Given the description of an element on the screen output the (x, y) to click on. 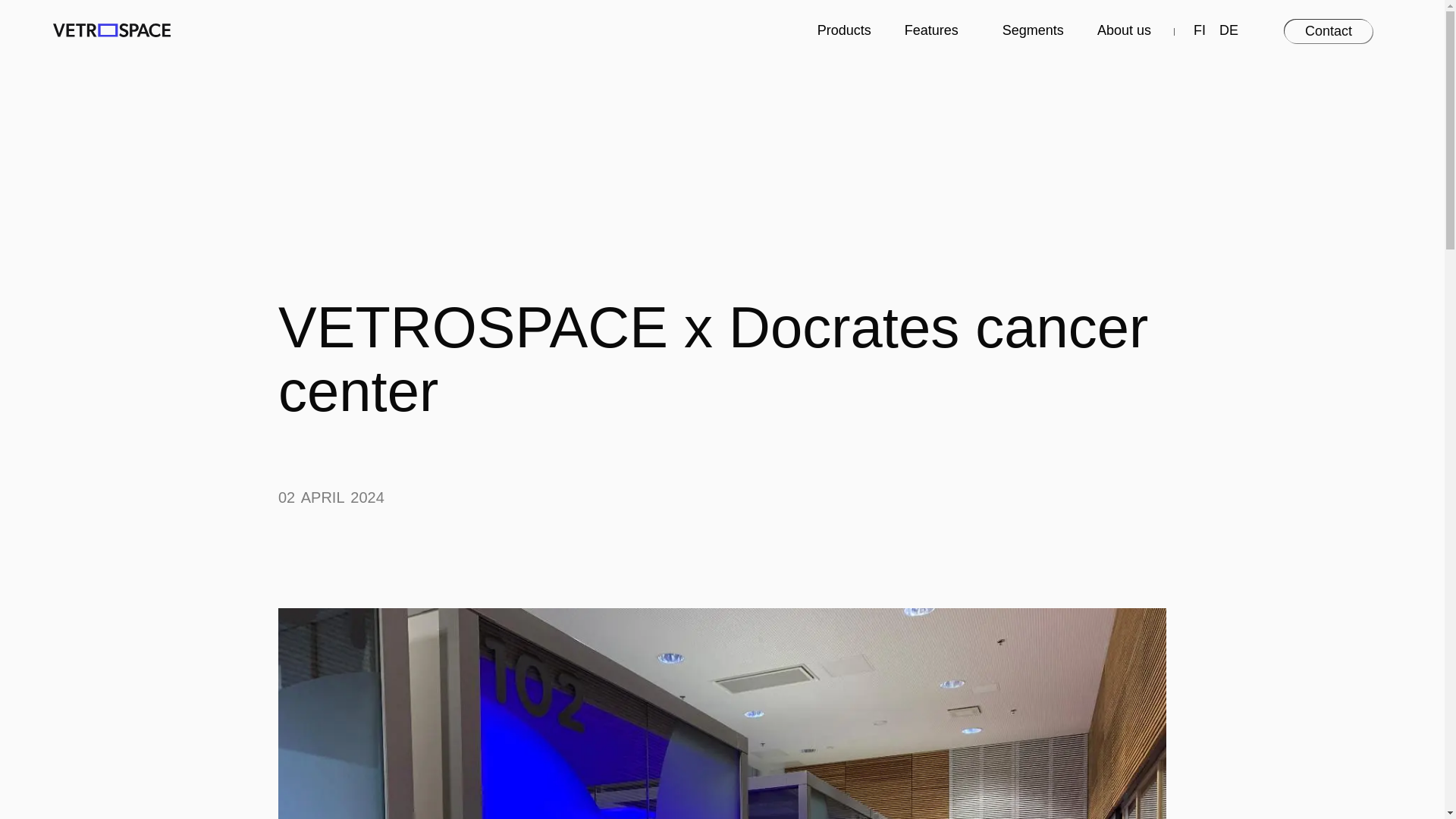
Products (838, 30)
VETROSPACE (111, 30)
Segments (1027, 30)
Features (930, 30)
Contact (1328, 31)
About us (1124, 30)
